Given the description of an element on the screen output the (x, y) to click on. 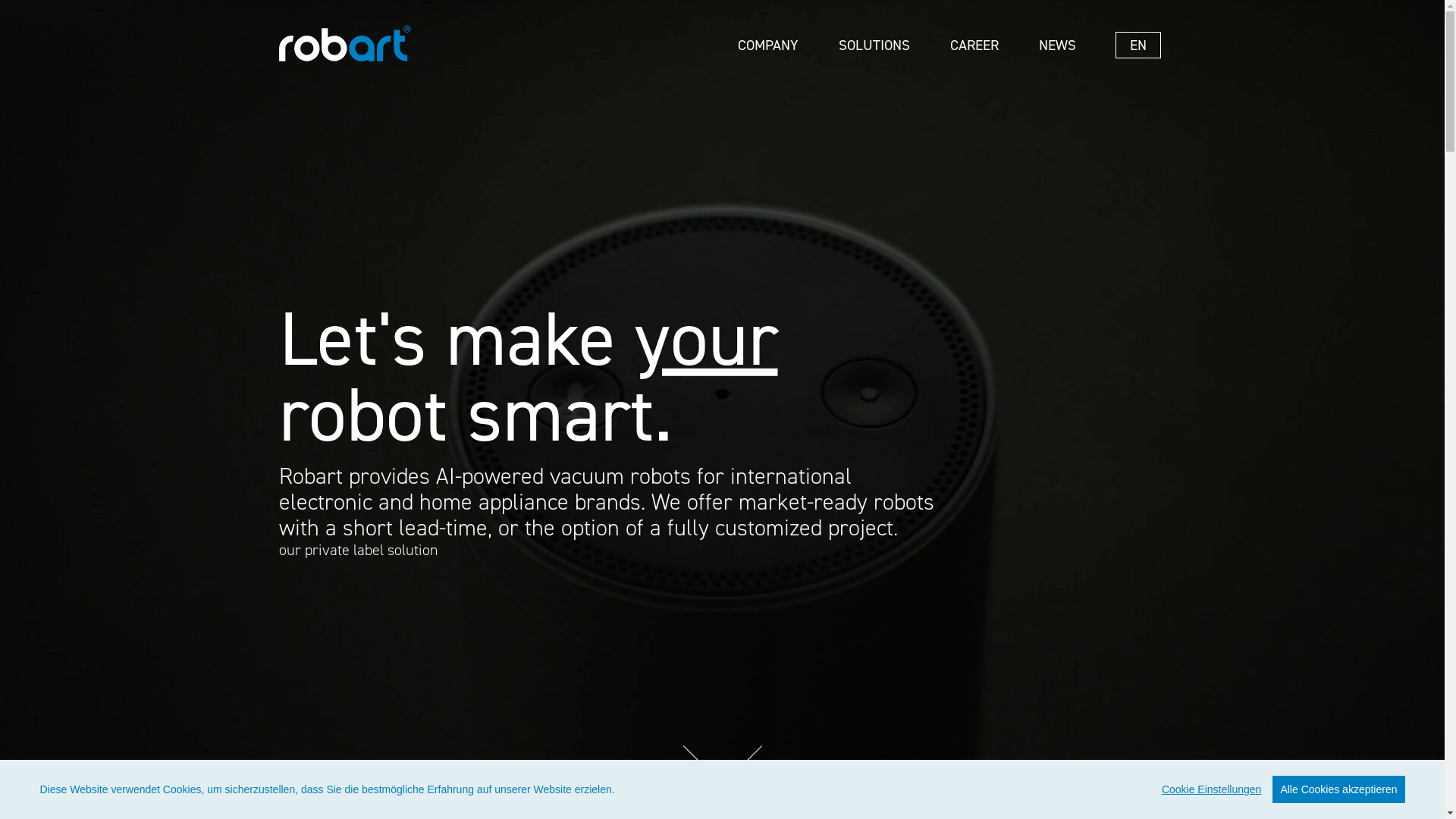
Cookie Einstellungen Element type: text (1211, 789)
CAREER Element type: text (973, 34)
NEWS Element type: text (1057, 34)
Alle Cookies akzeptieren Element type: text (1338, 789)
COMPANY Element type: text (767, 34)
scroll down Element type: hover (721, 780)
EN Element type: text (1137, 44)
SOLUTIONS Element type: text (874, 34)
